Given the description of an element on the screen output the (x, y) to click on. 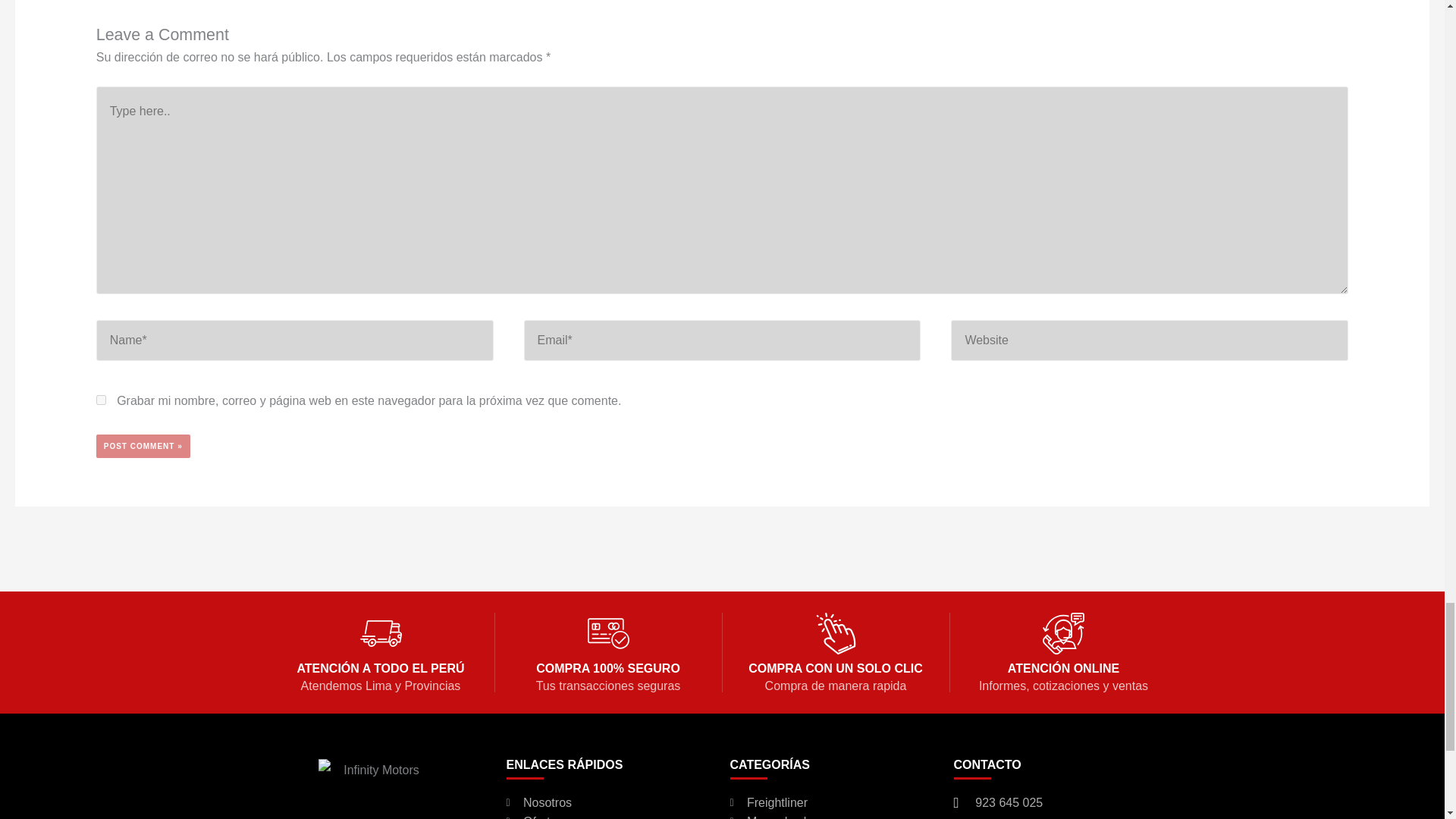
yes (101, 399)
